Given the description of an element on the screen output the (x, y) to click on. 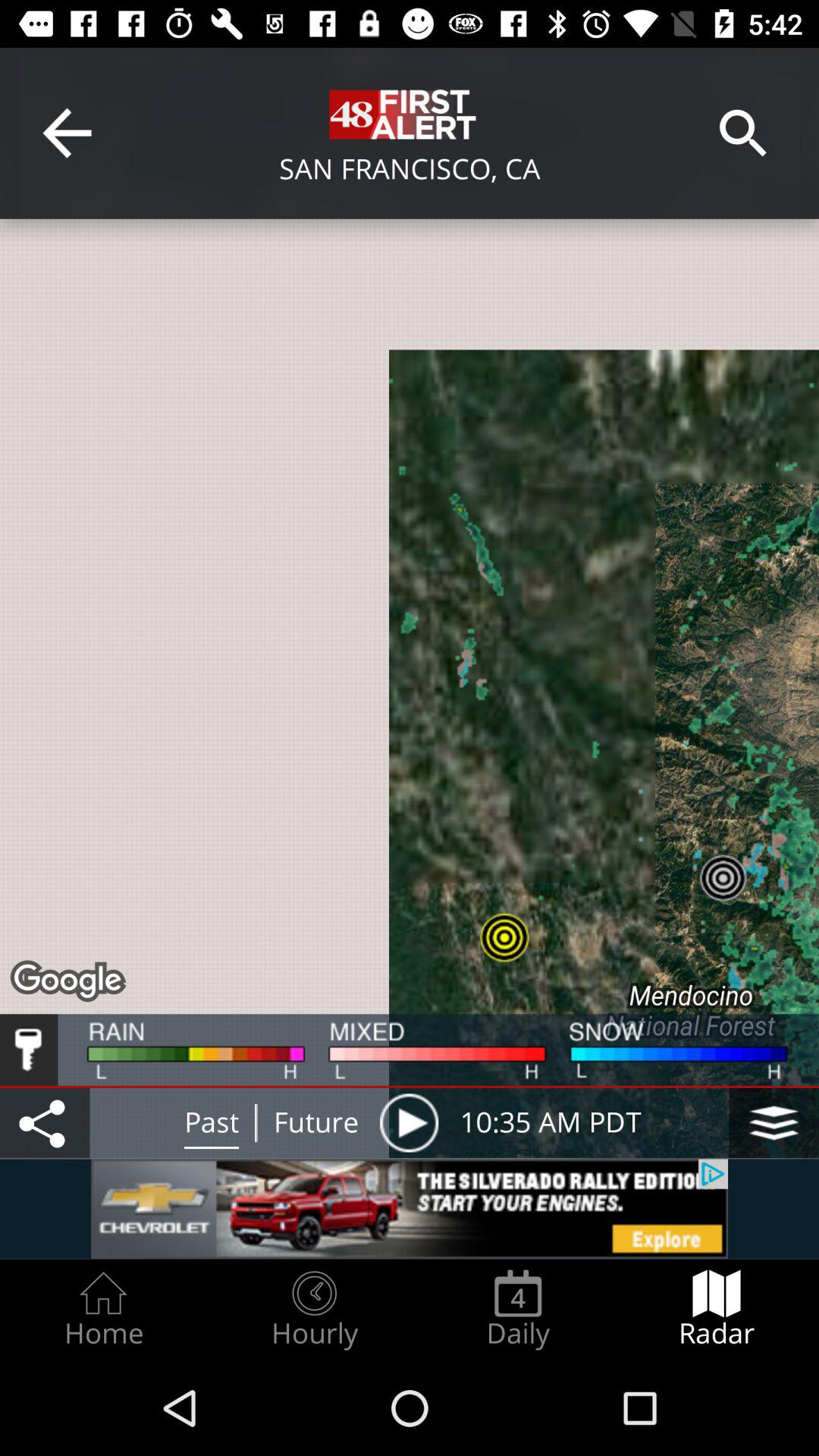
banner advertisement (409, 1208)
